Given the description of an element on the screen output the (x, y) to click on. 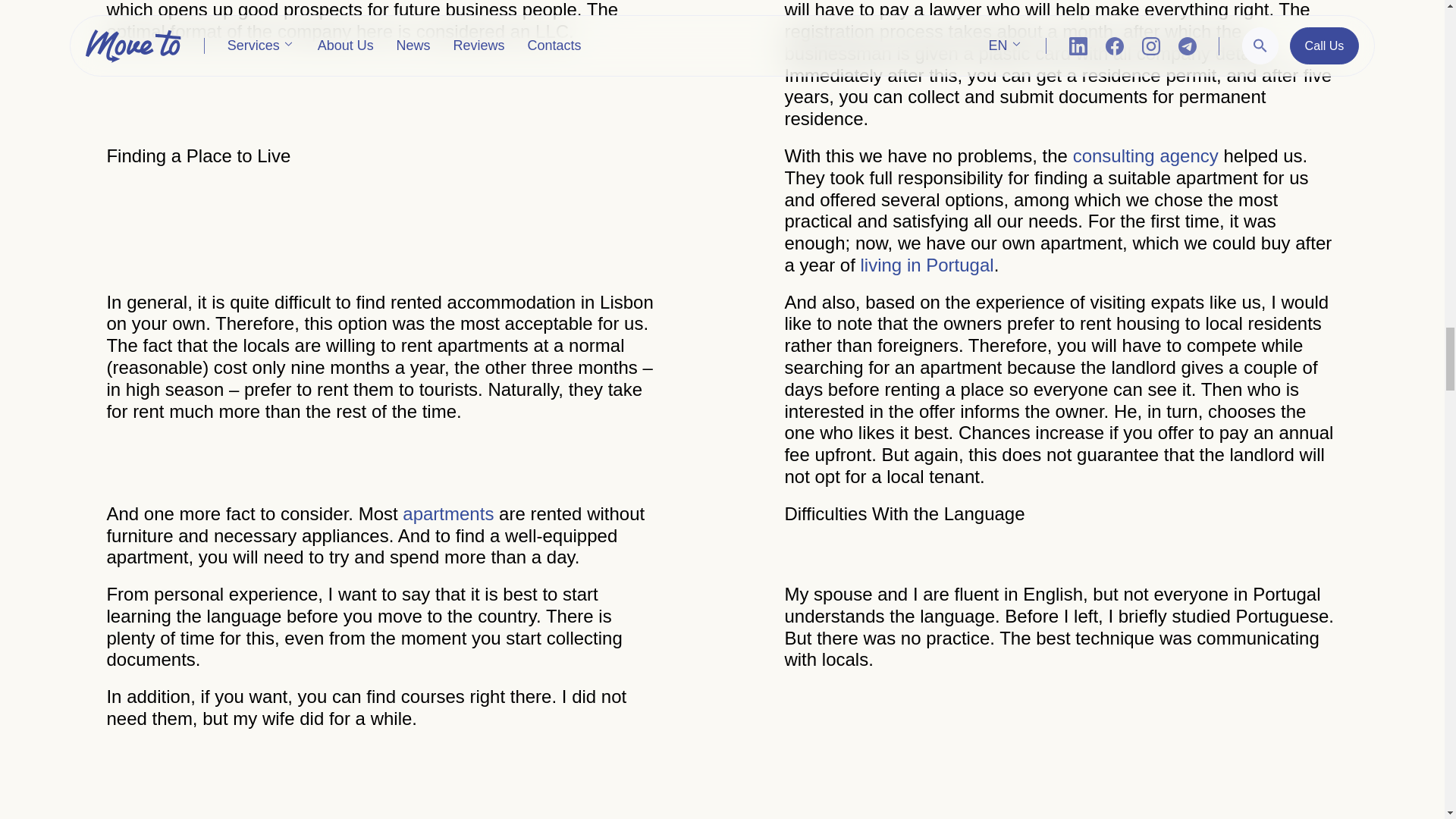
living in Portugal (927, 264)
consulting agency (1145, 155)
apartments (448, 513)
